Given the description of an element on the screen output the (x, y) to click on. 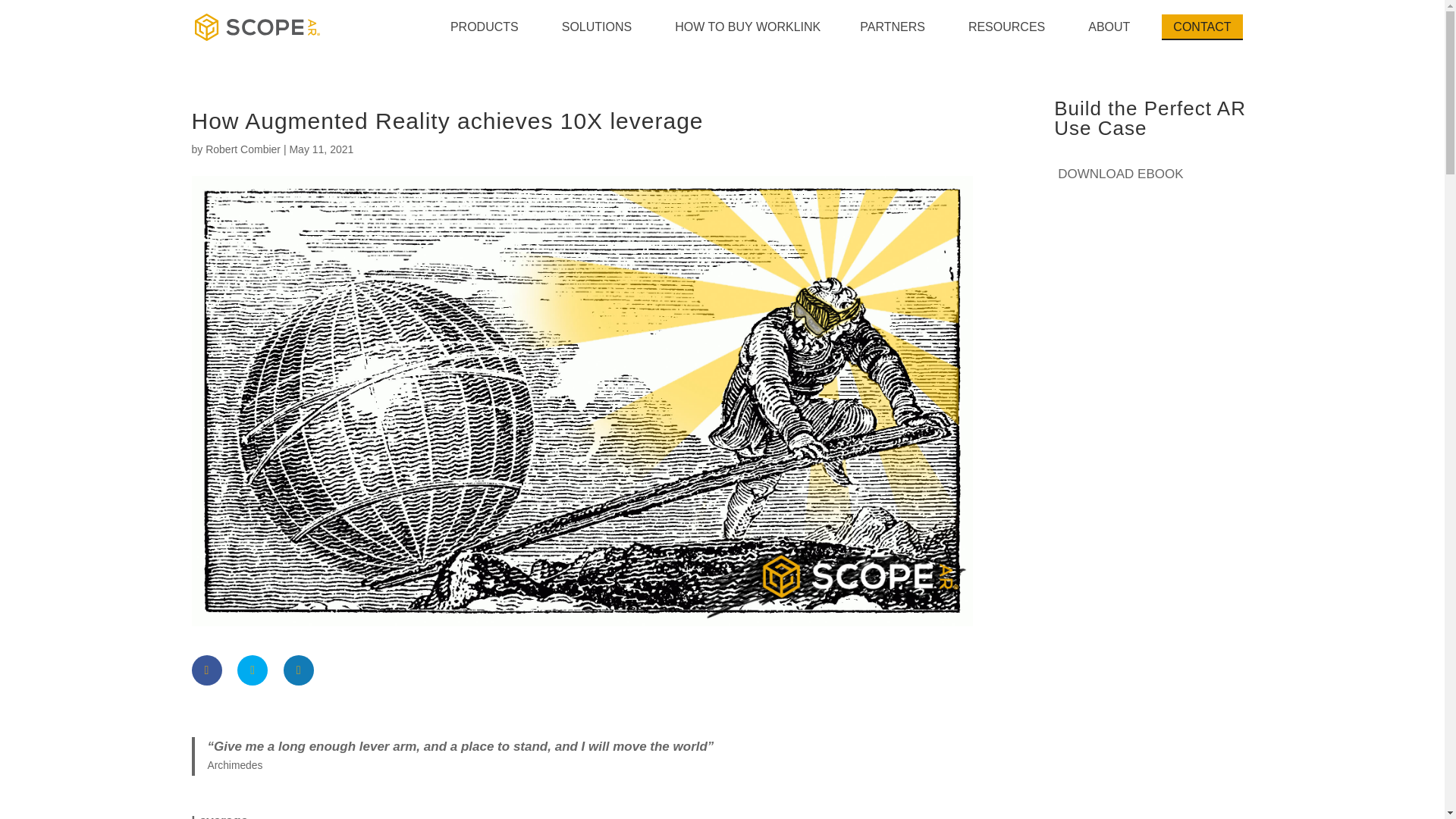
HOW TO BUY WORKLINK (747, 27)
SOLUTIONS (598, 27)
Posts by Robert Combier (243, 149)
PRODUCTS (486, 27)
RESOURCES (1007, 27)
PARTNERS (894, 27)
ABOUT (1110, 27)
SEE A DEMO (1201, 27)
